Given the description of an element on the screen output the (x, y) to click on. 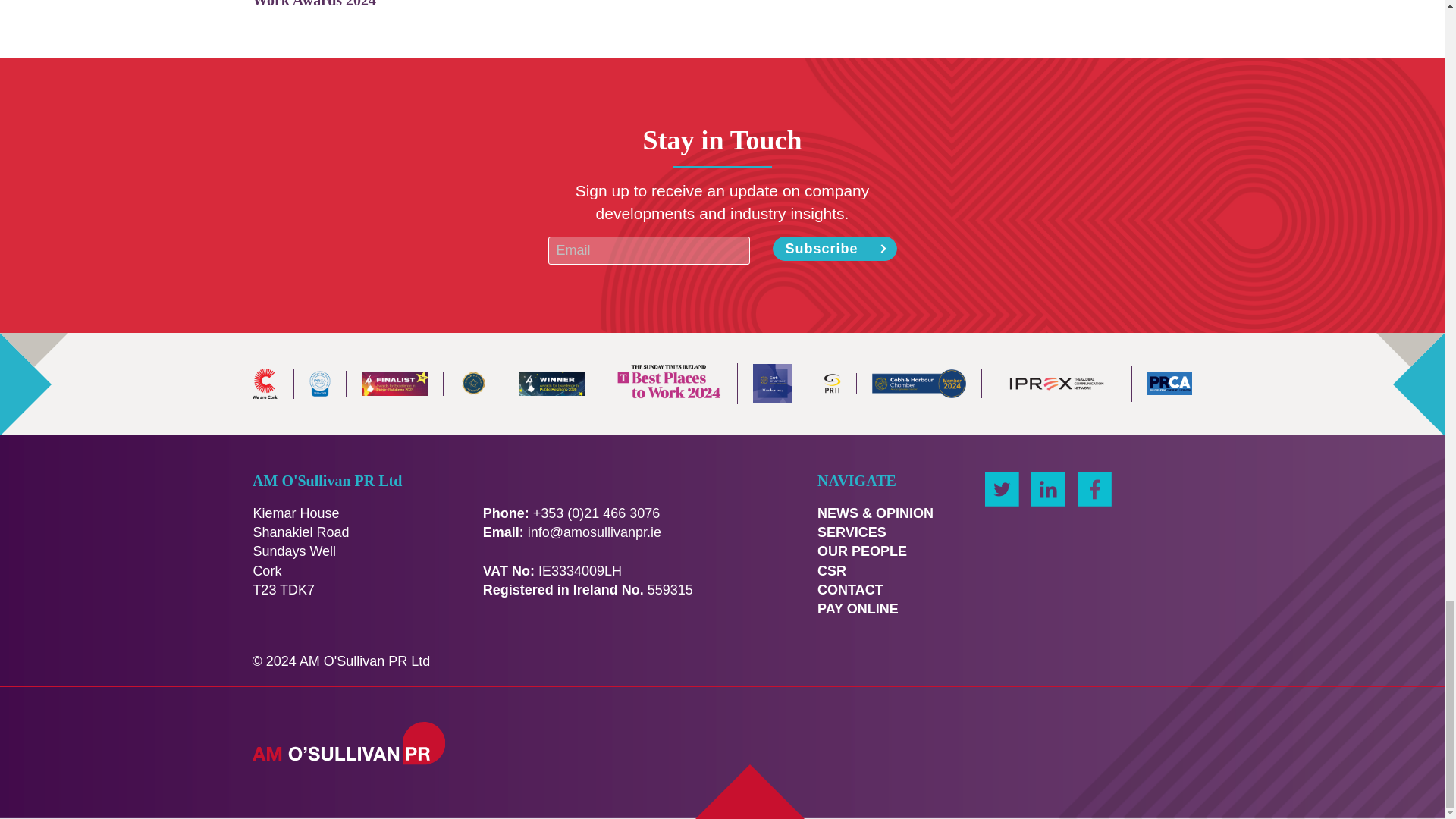
Subscribe (834, 248)
